Given the description of an element on the screen output the (x, y) to click on. 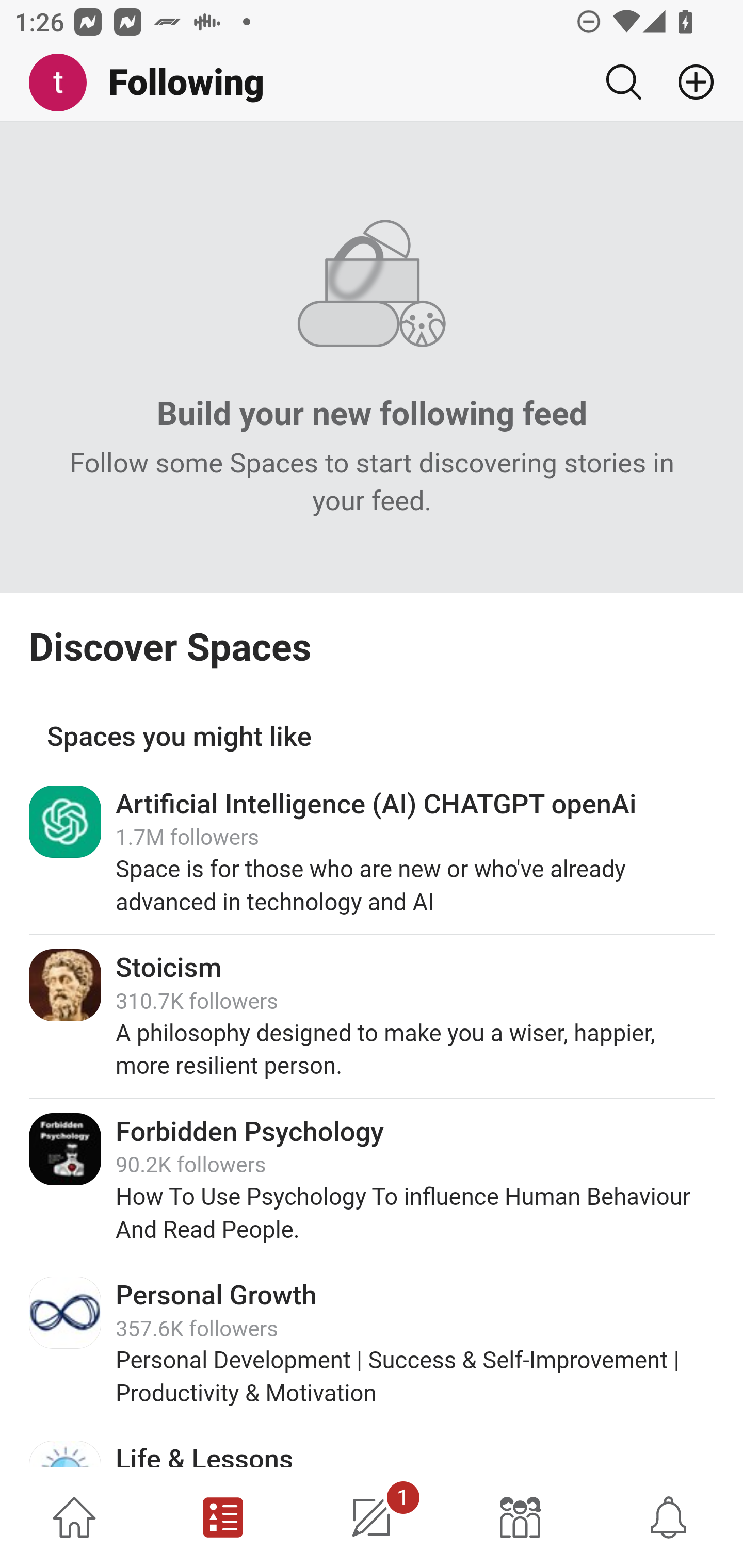
Me (64, 83)
Search (623, 82)
Add (688, 82)
1 (371, 1517)
